Given the description of an element on the screen output the (x, y) to click on. 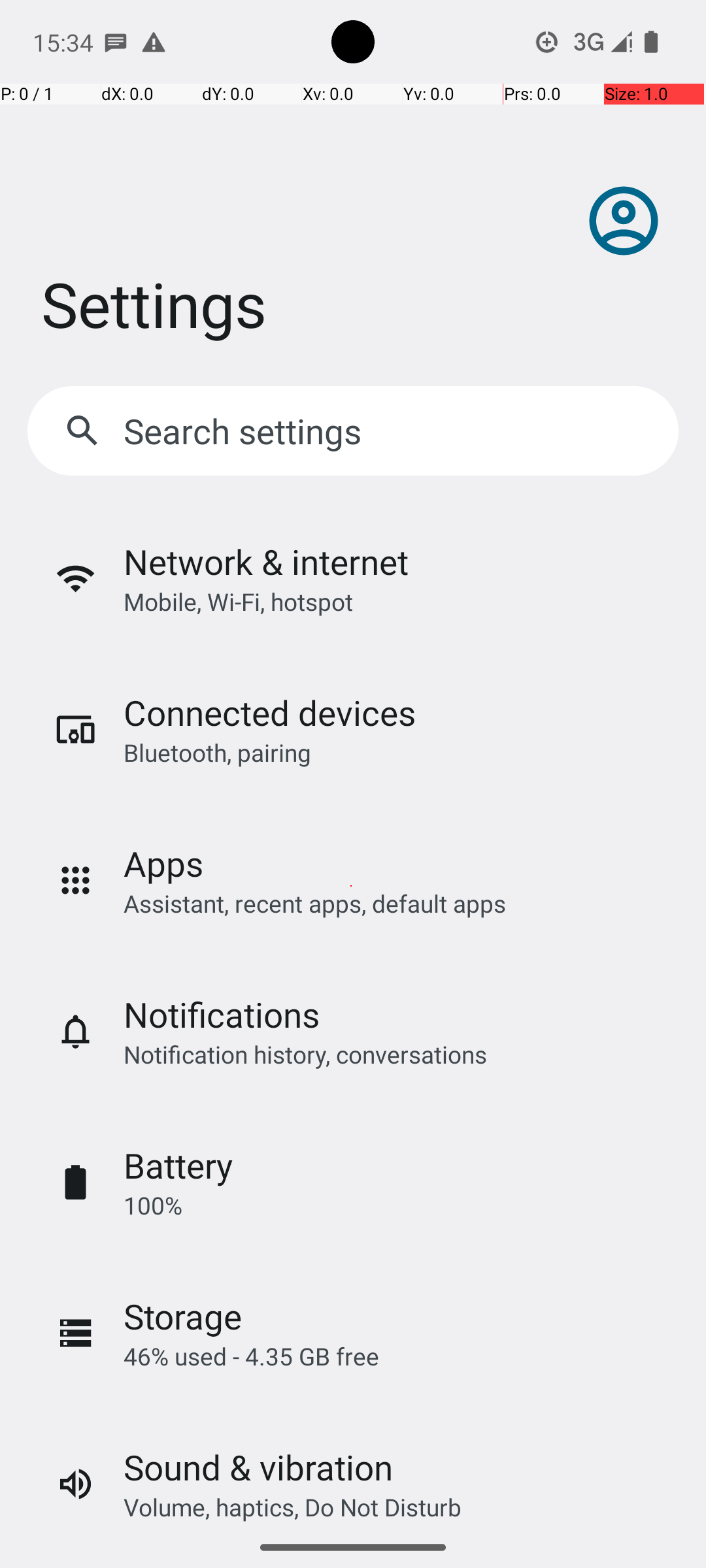
Profile picture, double tap to open Google Account Element type: android.widget.ImageView (623, 220)
Search settings Element type: android.widget.TextView (245, 430)
Network & internet Element type: android.widget.TextView (265, 561)
Mobile, Wi‑Fi, hotspot Element type: android.widget.TextView (238, 601)
Connected devices Element type: android.widget.TextView (269, 712)
Bluetooth, pairing Element type: android.widget.TextView (217, 751)
Apps Element type: android.widget.TextView (163, 863)
Assistant, recent apps, default apps Element type: android.widget.TextView (314, 902)
Notification history, conversations Element type: android.widget.TextView (305, 1053)
Battery Element type: android.widget.TextView (178, 1165)
100% Element type: android.widget.TextView (152, 1204)
Storage Element type: android.widget.TextView (182, 1315)
46% used - 4.35 GB free Element type: android.widget.TextView (251, 1355)
Sound & vibration Element type: android.widget.TextView (257, 1466)
Volume, haptics, Do Not Disturb Element type: android.widget.TextView (292, 1506)
